Given the description of an element on the screen output the (x, y) to click on. 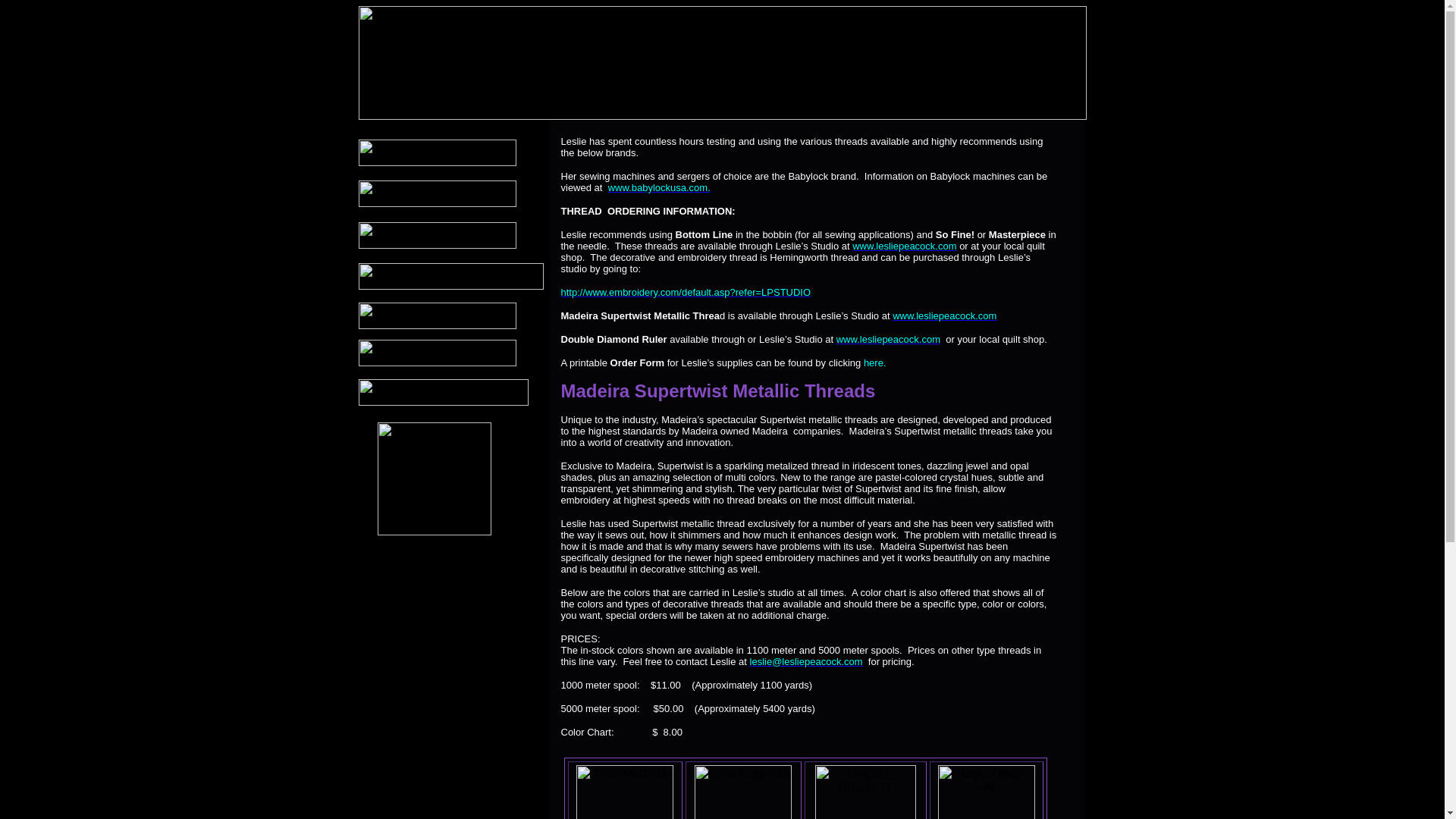
Leslie Peacock Studio (722, 62)
"I Don't Exaggerate...I Embellish" (434, 478)
www.lesliepeacock.com (887, 338)
www.lesliepeacock.com (943, 314)
www.lesliepeacock.com (903, 245)
Gold-Metal-21 (624, 791)
Gold-Nugget-25 (743, 791)
here. (874, 361)
www.babylockusa.com. (659, 186)
